Given the description of an element on the screen output the (x, y) to click on. 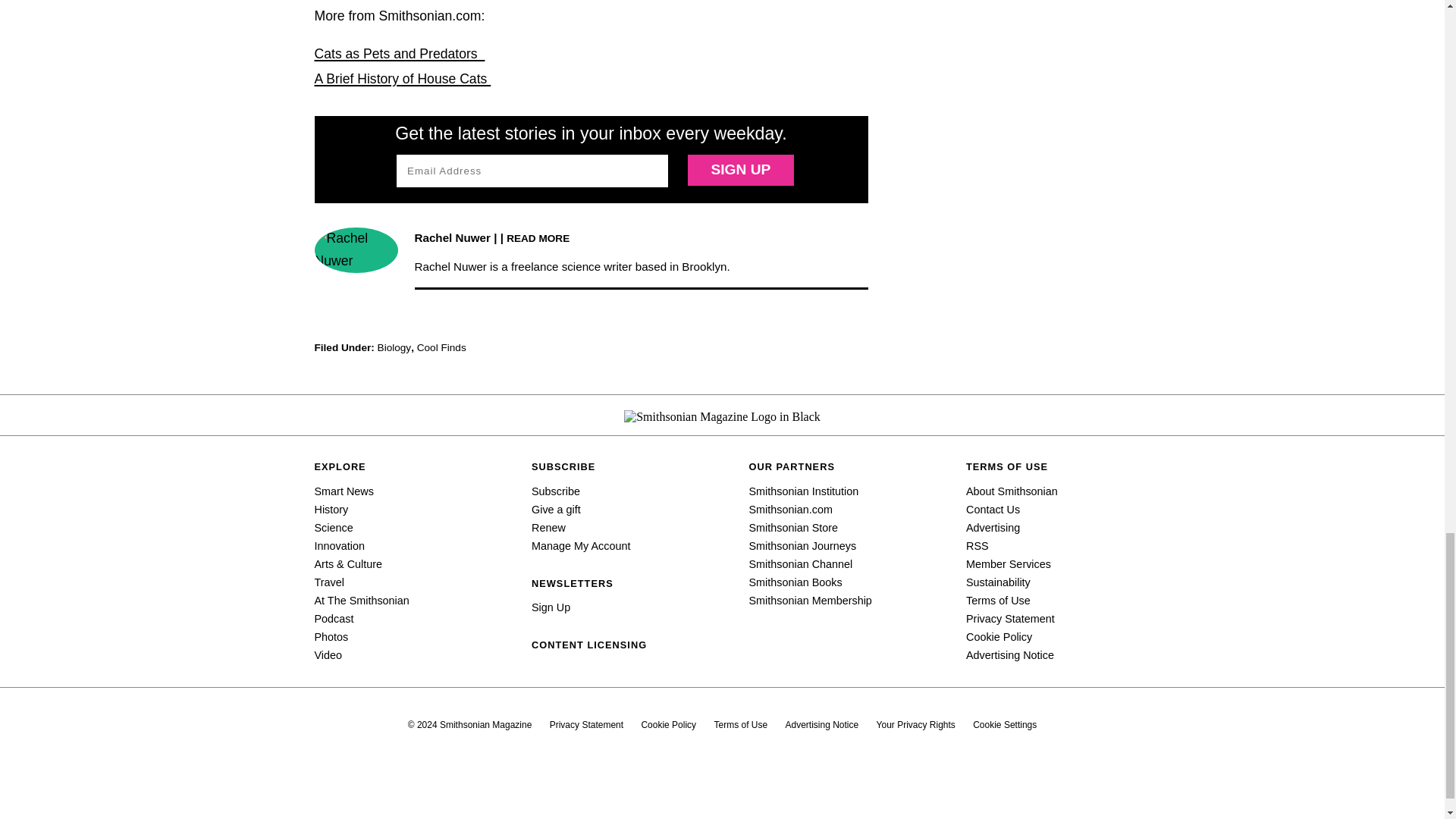
Sign Up (740, 169)
Read more from this author (537, 237)
